Given the description of an element on the screen output the (x, y) to click on. 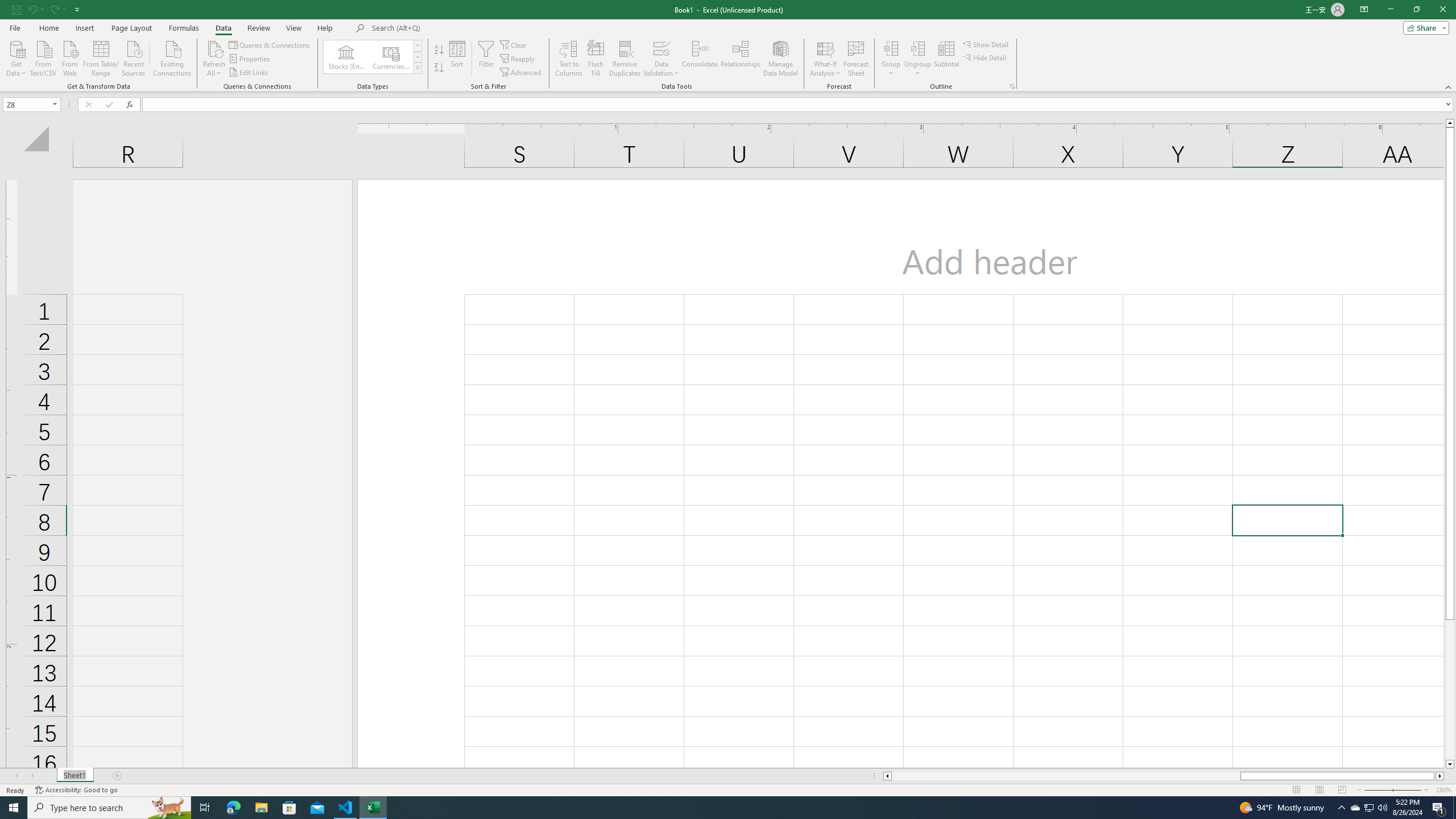
Formulas (184, 28)
What-If Analysis (825, 58)
Formula Bar (798, 104)
Hide Detail (985, 56)
Data (223, 28)
More Options (917, 68)
Flash Fill (595, 58)
Subtotal (946, 58)
Sort Z to A (438, 67)
Accessibility Checker Accessibility: Good to go (76, 790)
Share (1423, 27)
Relationships (740, 58)
Edit Links (249, 72)
